Given the description of an element on the screen output the (x, y) to click on. 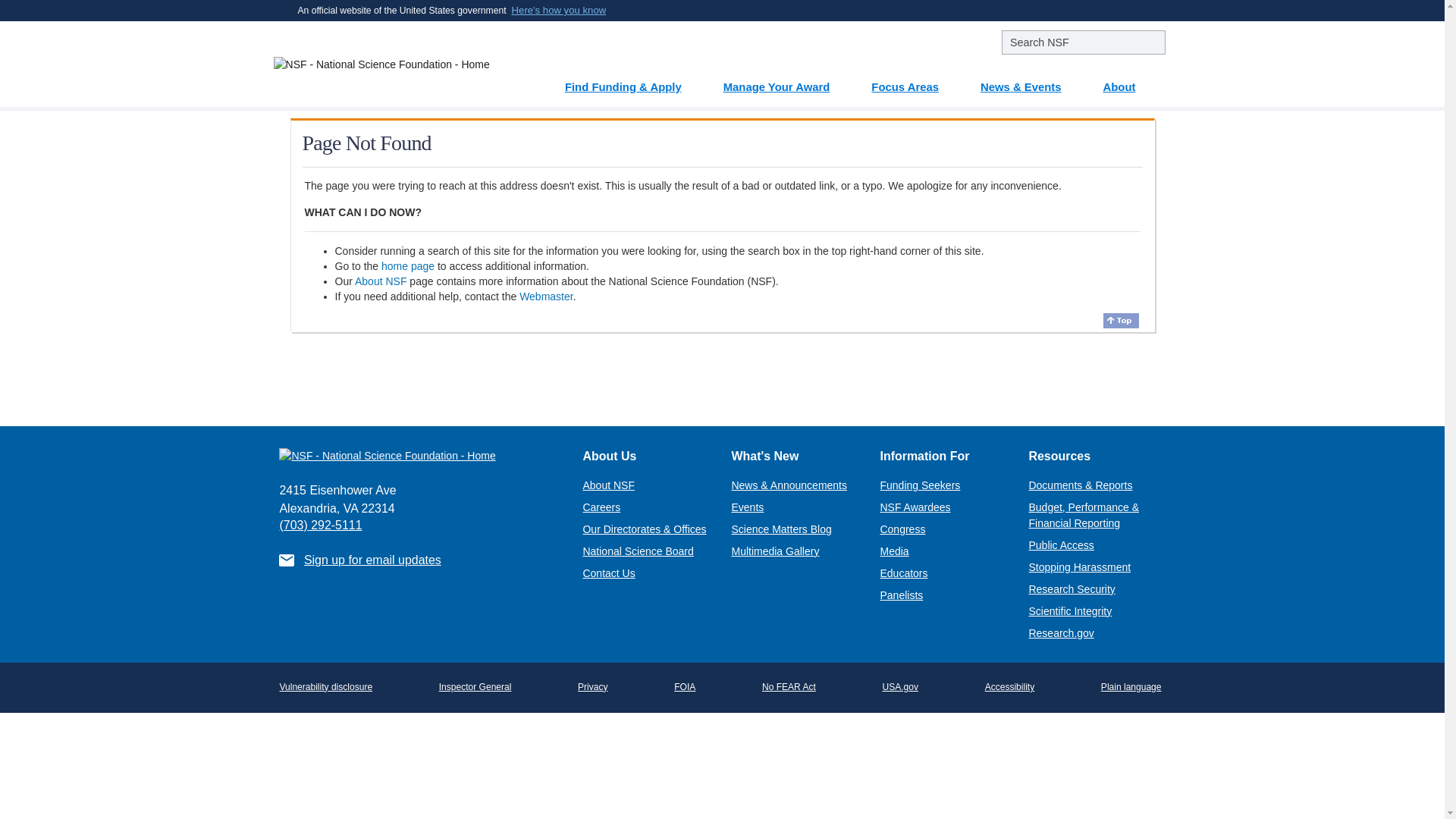
National Science Board (637, 551)
Manage Your Award (785, 81)
NSF - National Science Foundation - Home (386, 64)
home page (407, 265)
NSF Awardees (914, 507)
Media (893, 551)
Contact Us (608, 573)
Here's how you know (559, 10)
Multimedia Gallery (774, 551)
Panelists (901, 594)
